Given the description of an element on the screen output the (x, y) to click on. 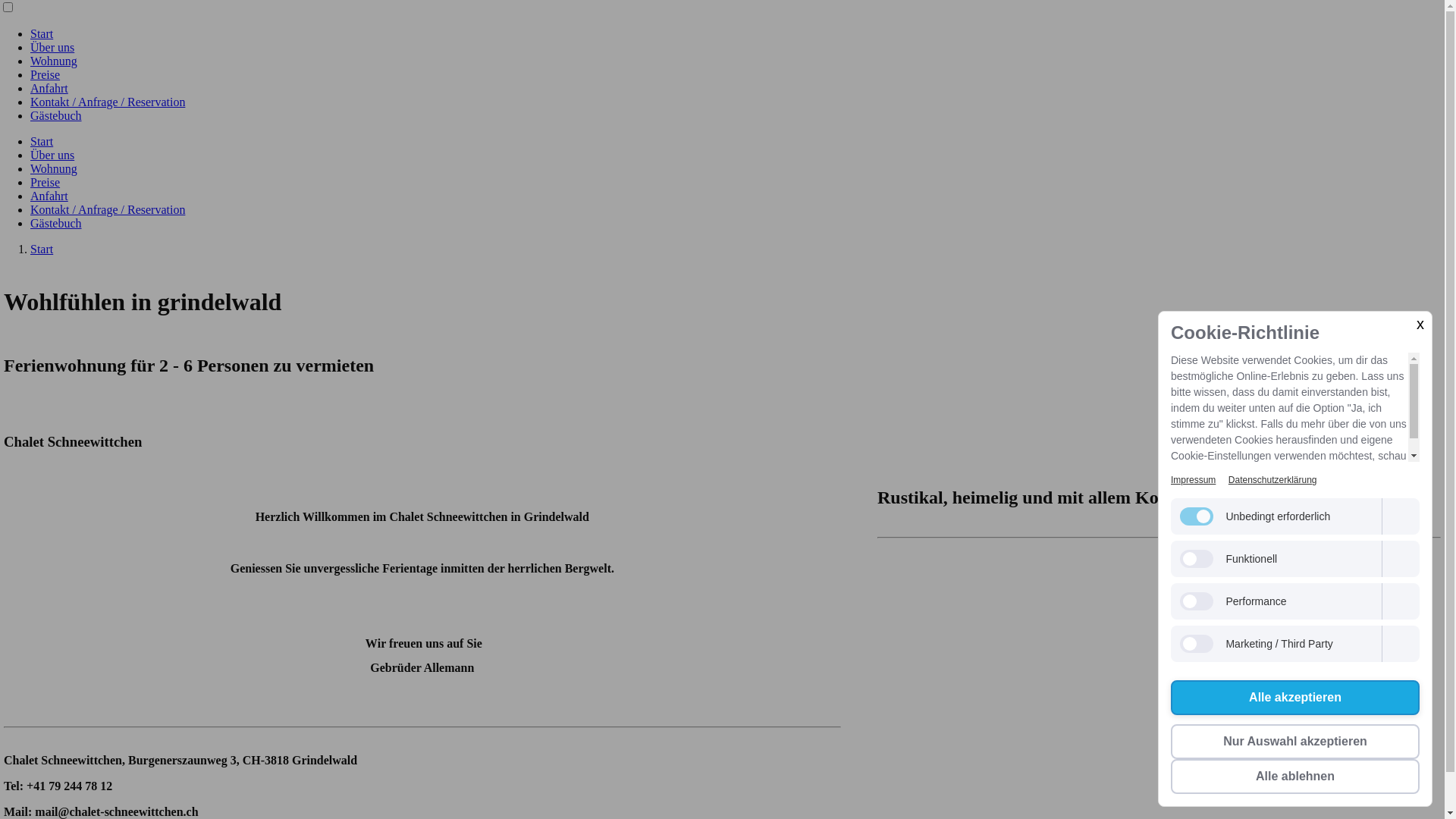
Kontakt / Anfrage / Reservation Element type: text (107, 209)
Wohnung Element type: text (53, 60)
Kontakt / Anfrage / Reservation Element type: text (107, 101)
Anfahrt Element type: text (49, 195)
Preise Element type: text (44, 181)
Start Element type: text (41, 140)
Start Element type: text (41, 248)
Start Element type: text (41, 33)
Anfahrt Element type: text (49, 87)
Wohnung Element type: text (53, 168)
Preise Element type: text (44, 74)
